Given the description of an element on the screen output the (x, y) to click on. 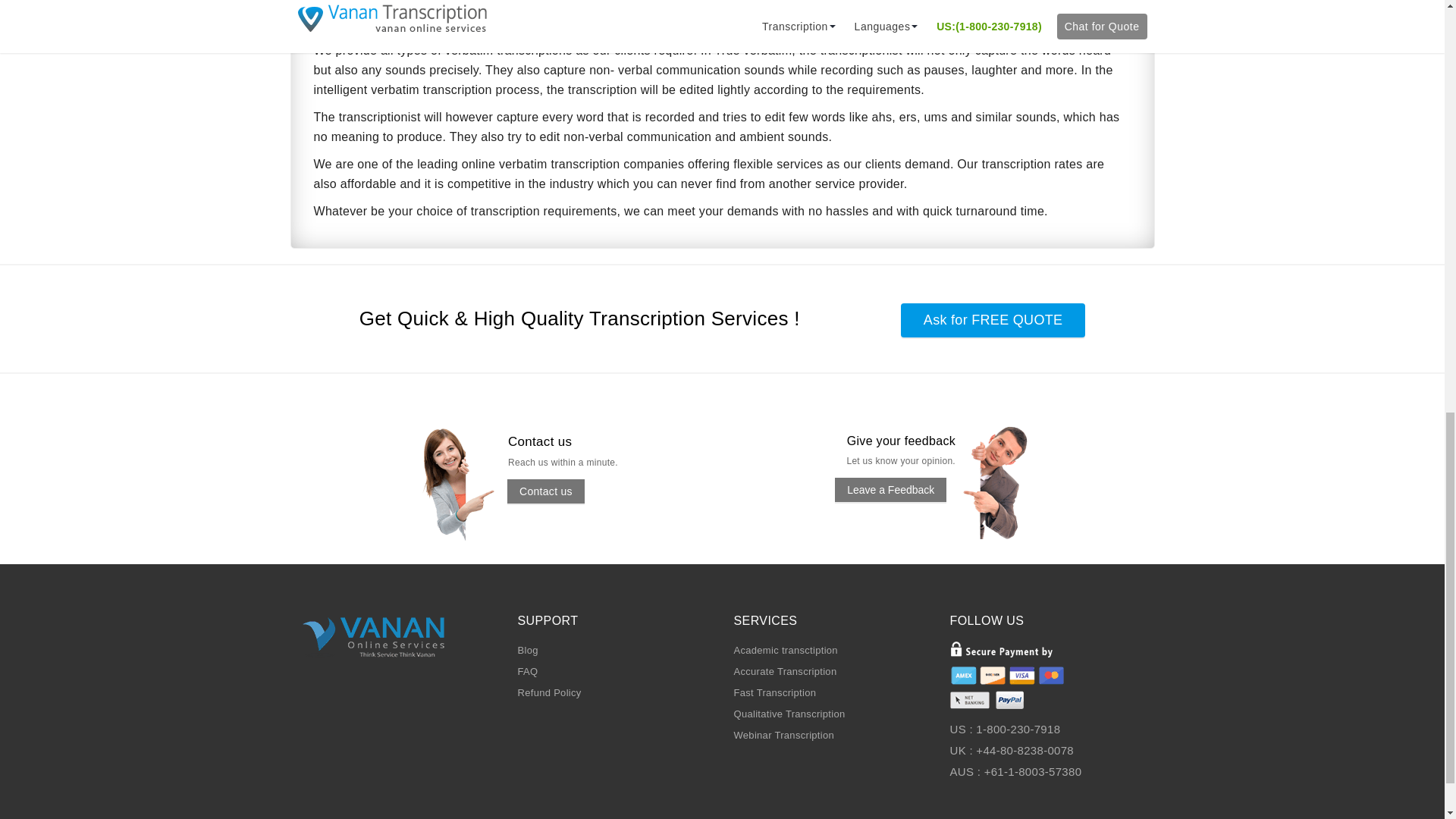
Leave a Feedback (890, 489)
Refund Policy (548, 692)
Academic transctiption (785, 650)
Fast Transcription (774, 692)
vanantranscription (1011, 481)
vanantranscription (473, 483)
FAQ (526, 671)
Qualitative Transcription (789, 713)
Blog (526, 650)
Accurate Transcription (785, 671)
